Given the description of an element on the screen output the (x, y) to click on. 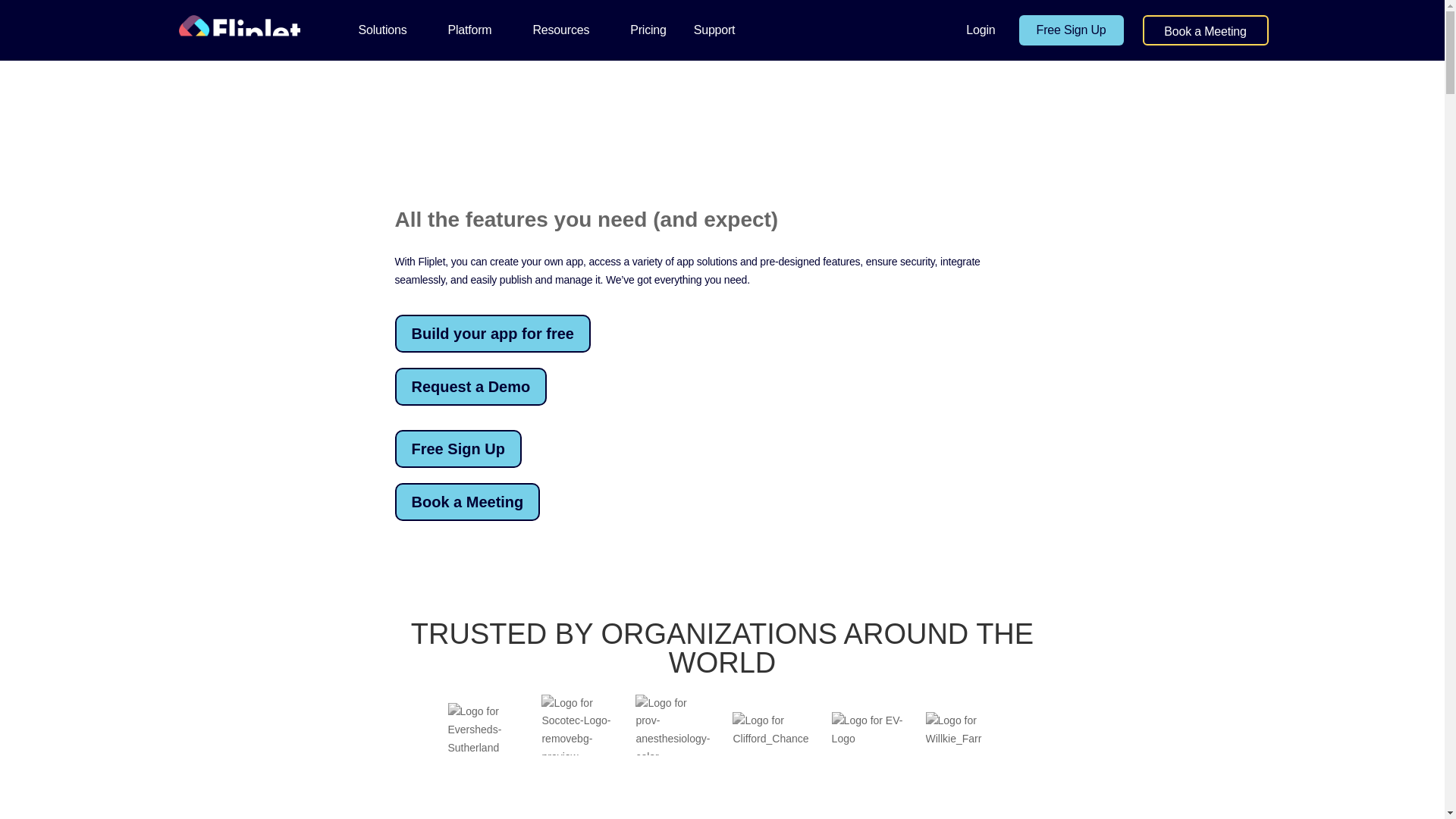
Solutions (389, 30)
